Given the description of an element on the screen output the (x, y) to click on. 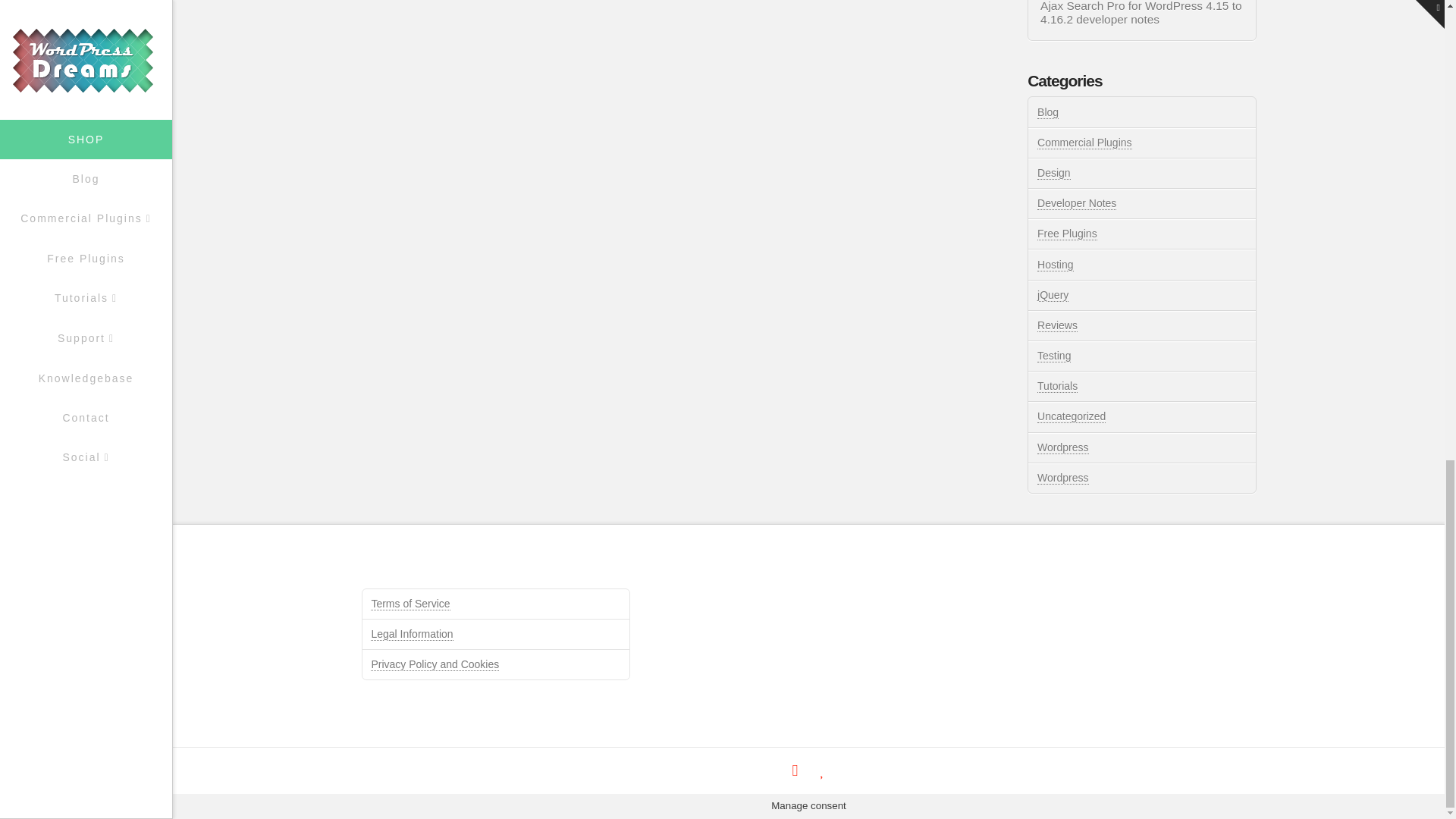
jQuery tutorials (1052, 295)
WordPress Tutorials (1061, 477)
